Given the description of an element on the screen output the (x, y) to click on. 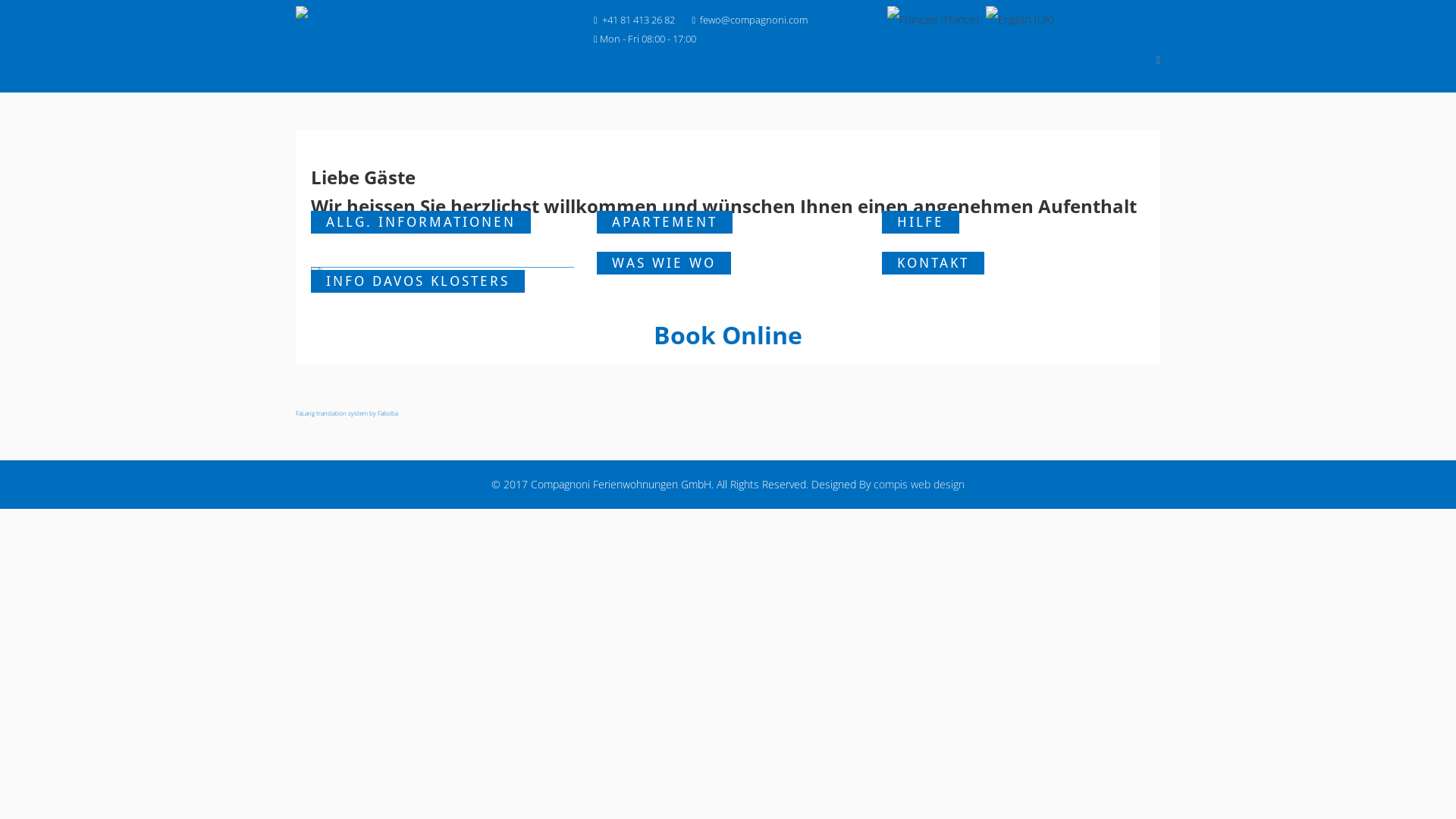
fewo@compagnoni.com Element type: text (753, 19)
FaLang translation system by Faboba Element type: text (346, 412)
INFO DAVOS KLOSTERS
  Element type: text (442, 292)
English (UK) Element type: hover (1019, 19)
+41 81 413 26 82 Element type: text (638, 19)
compis web design Element type: text (918, 483)
Book Online Element type: text (727, 334)
KONTAKT Element type: text (1013, 274)
ALLG. INFORMATIONEN
  Element type: text (442, 242)
APARTEMENT
  Element type: text (727, 242)
HILFE
  Element type: text (1013, 242)
WAS WIE WO
  Element type: text (727, 283)
